Given the description of an element on the screen output the (x, y) to click on. 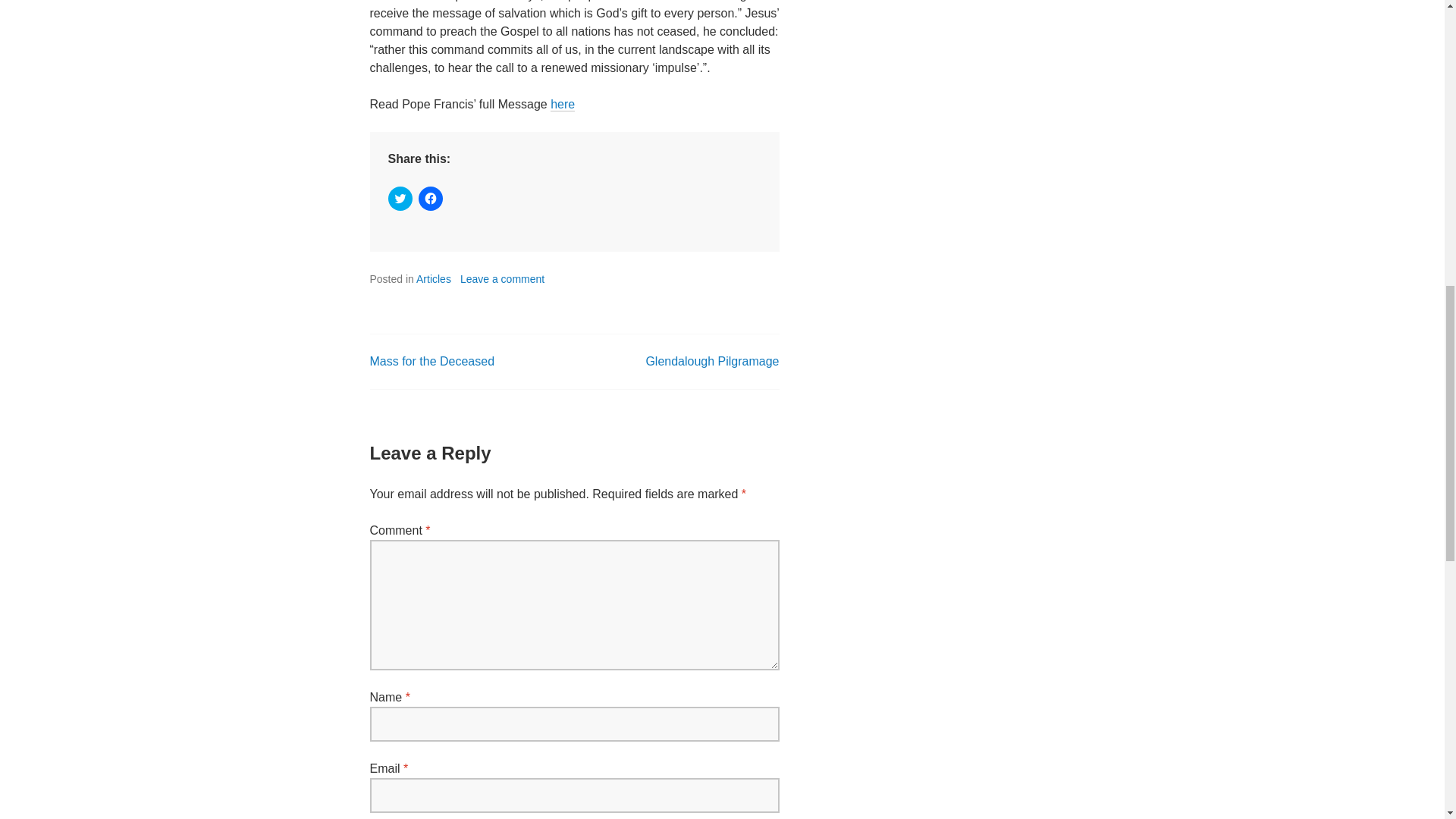
Articles (433, 278)
here (562, 104)
Mass for the Deceased (432, 360)
Leave a comment (502, 278)
Glendalough Pilgramage (711, 360)
Click to share on Twitter (400, 198)
Click to share on Facebook (430, 198)
